Given the description of an element on the screen output the (x, y) to click on. 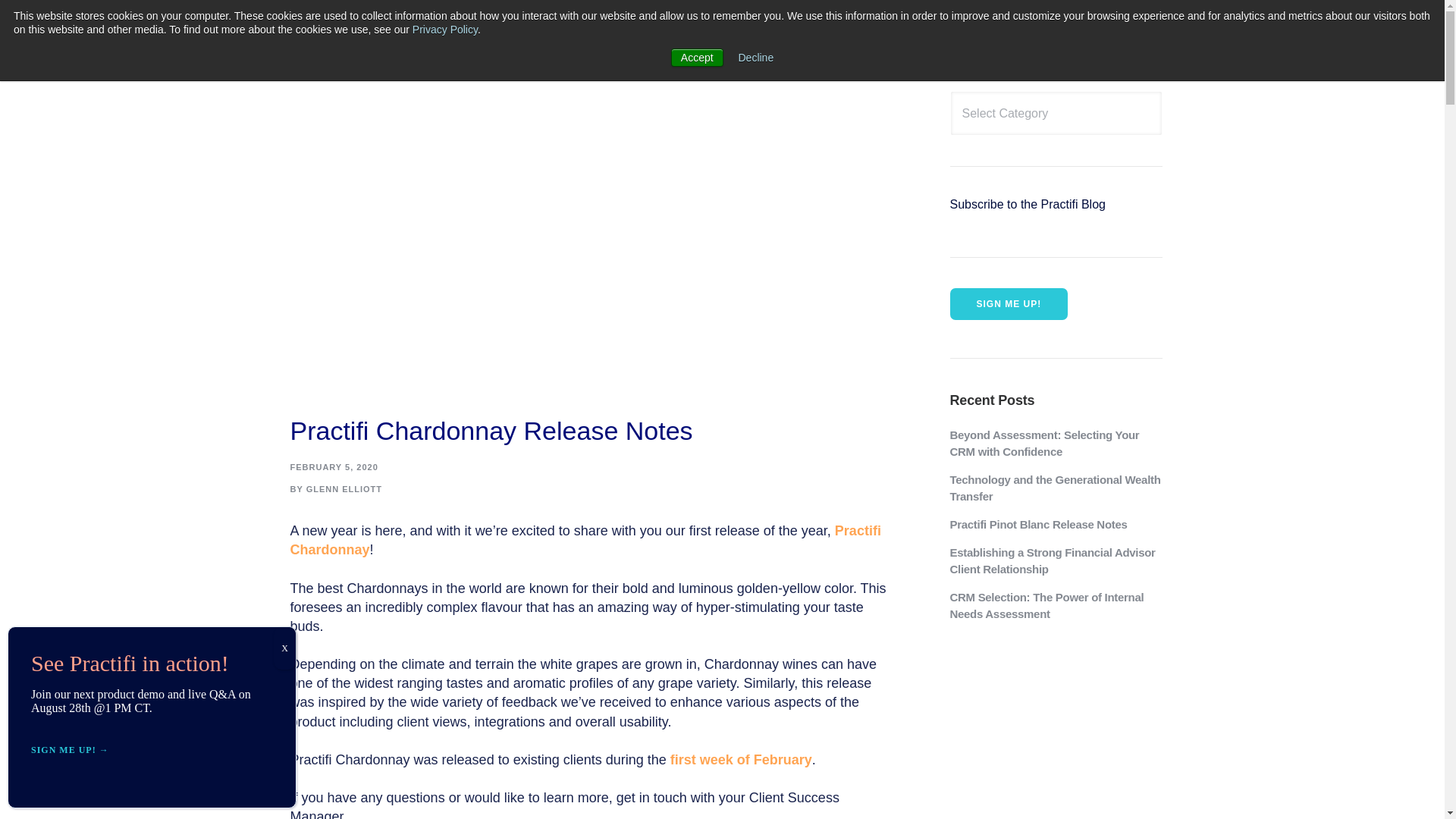
CRM Selection: The Power of Internal Needs Assessment (1055, 605)
Practifi Pinot Blanc Release Notes (1055, 524)
Decline (756, 57)
SIGN ME UP! (1008, 304)
Beyond Assessment: Selecting Your CRM with Confidence (1055, 443)
Accept (697, 57)
Establishing a Strong Financial Advisor Client Relationship (1055, 561)
Privacy Policy (444, 29)
Technology and the Generational Wealth Transfer (1055, 488)
